Given the description of an element on the screen output the (x, y) to click on. 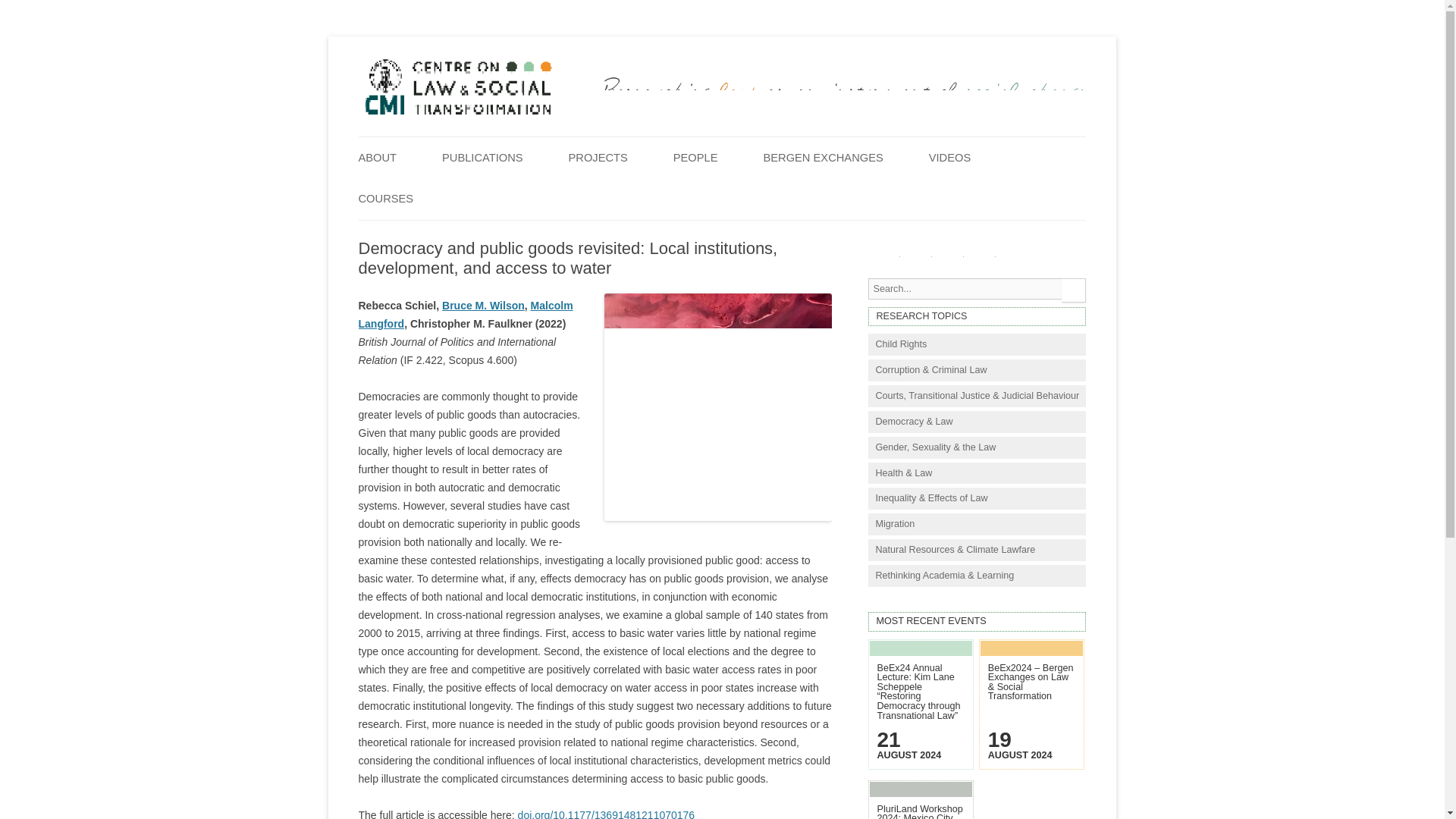
Follow on Facebook (887, 258)
Centre on Law and Social Transformation (456, 112)
PROJECTS (598, 157)
GET INVOLVED! (433, 193)
PUBLICATIONS (482, 157)
Search (1073, 290)
ABOUT (377, 157)
See upcoming and past events (977, 621)
ONGOING LAWTRANSFORM PROJECTS (644, 202)
BERGEN EXCHANGES (822, 157)
